Given the description of an element on the screen output the (x, y) to click on. 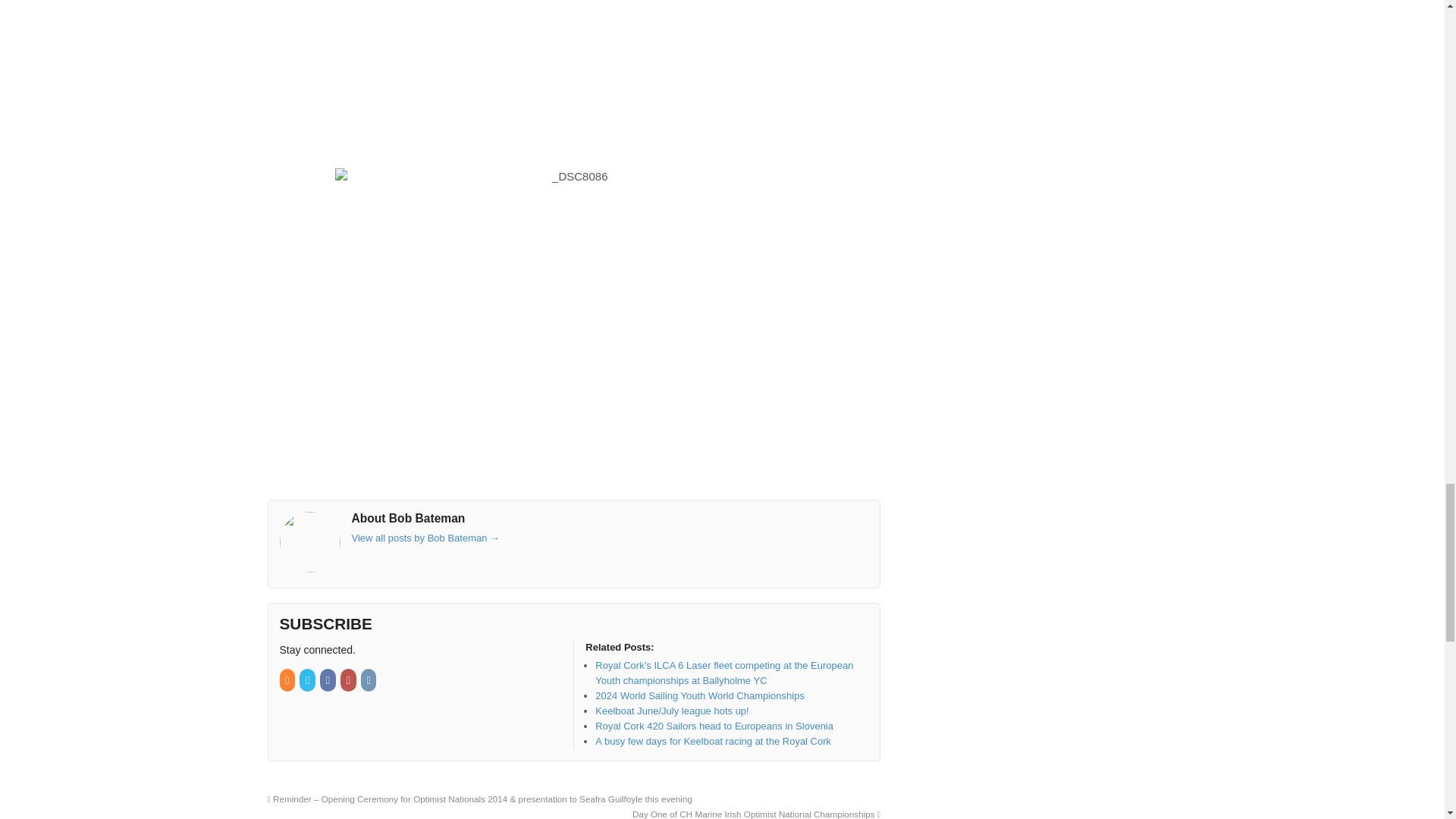
YouTube (349, 680)
2024 World Sailing Youth World Championships (700, 695)
Facebook (328, 680)
Twitter (308, 680)
Instagram (369, 680)
RSS (288, 680)
